Given the description of an element on the screen output the (x, y) to click on. 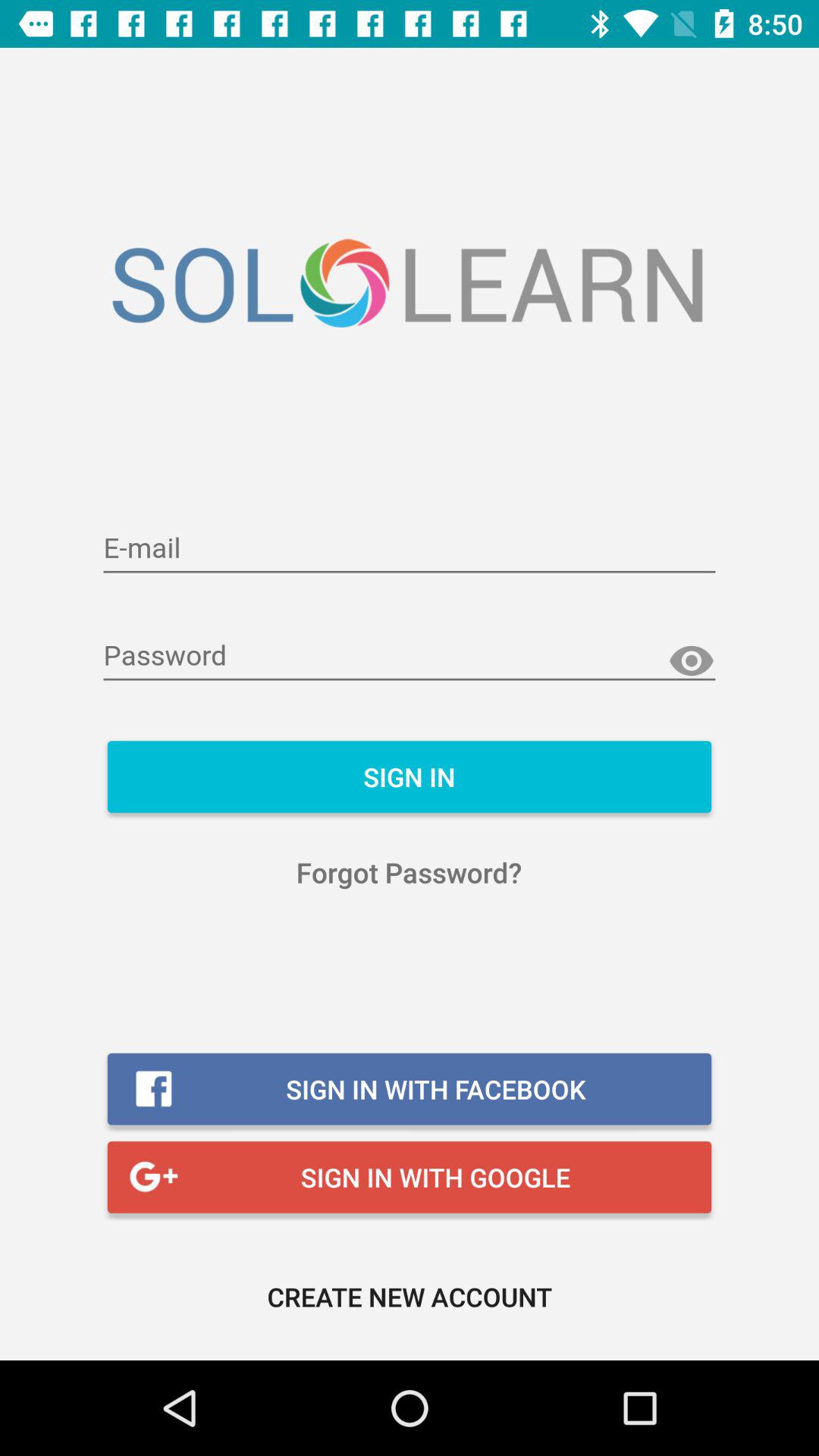
reveal password (691, 661)
